Given the description of an element on the screen output the (x, y) to click on. 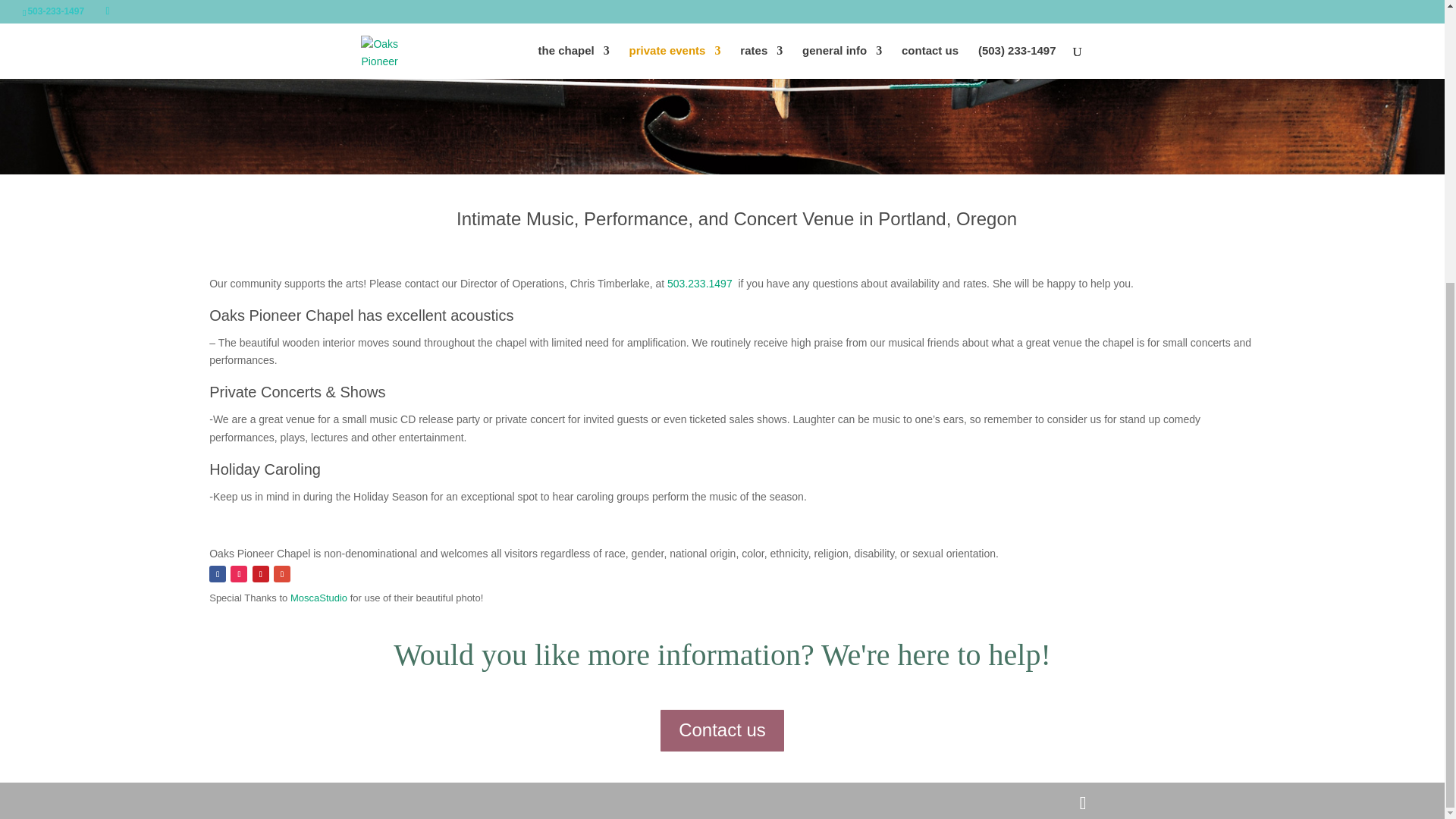
Follow on Instagram (238, 573)
Follow on Facebook (217, 573)
Follow on Pinterest (260, 573)
Follow on google-plus (281, 573)
